Given the description of an element on the screen output the (x, y) to click on. 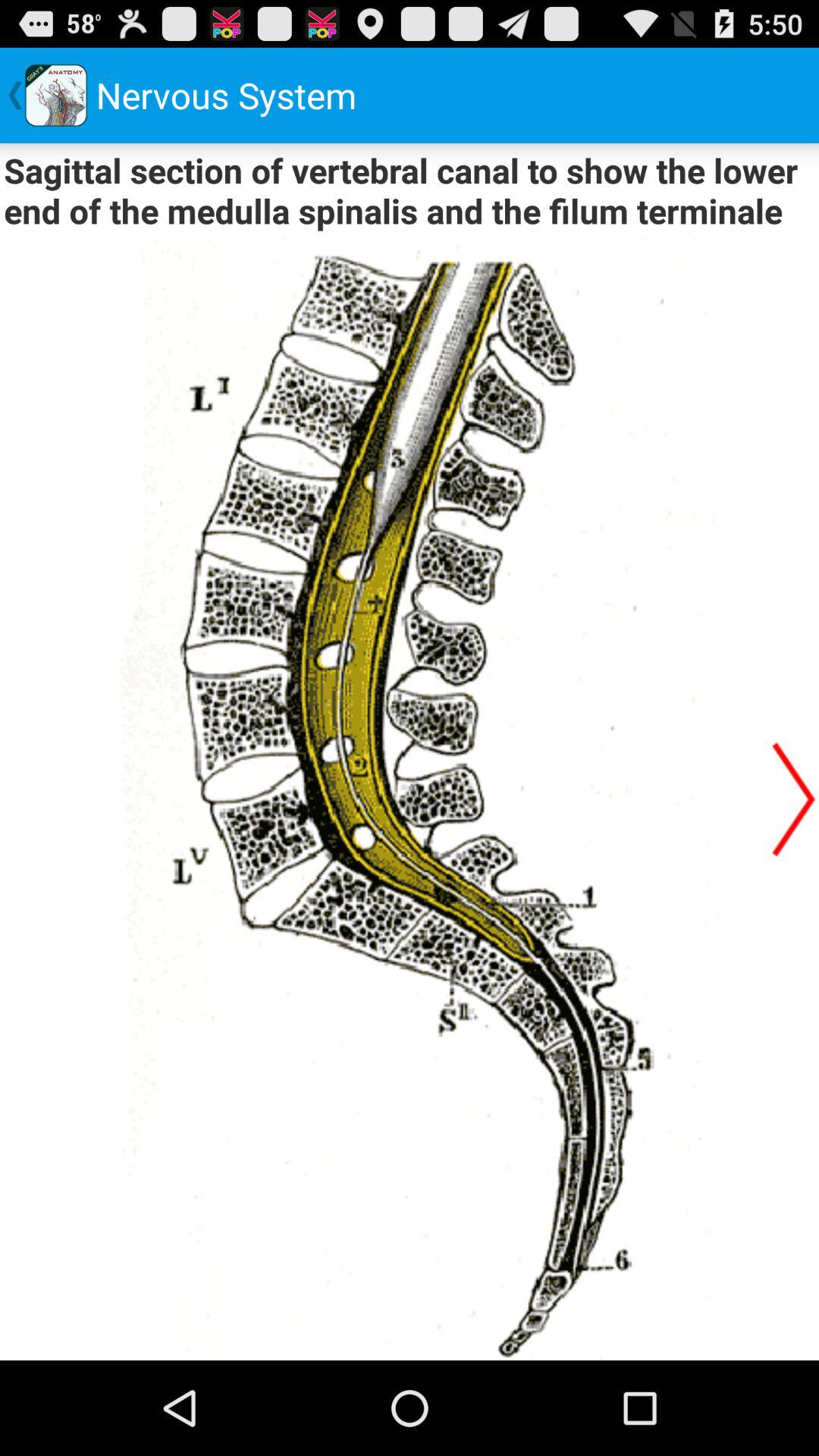
go to next page (793, 798)
